Given the description of an element on the screen output the (x, y) to click on. 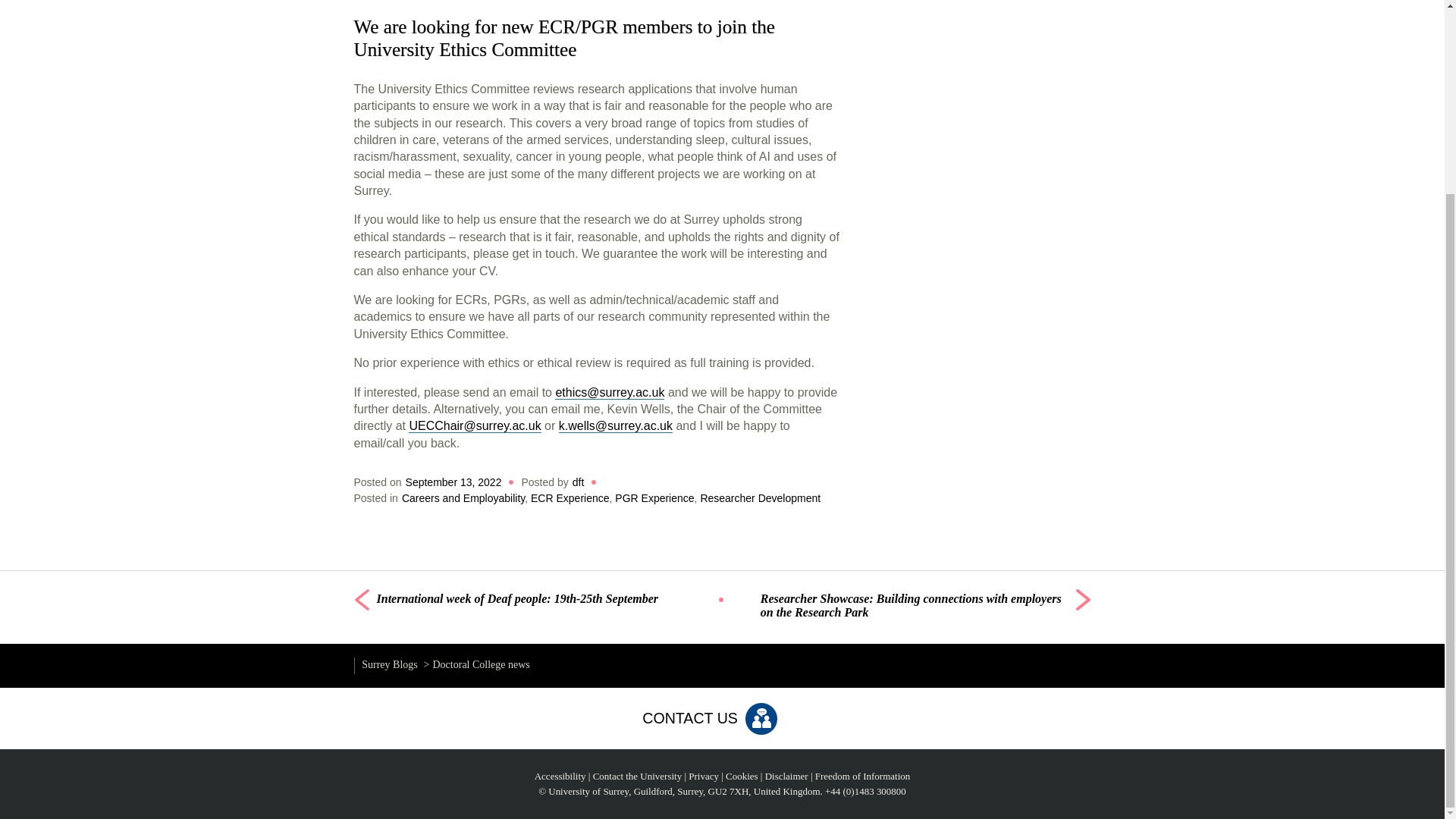
dft (578, 481)
Careers and Employability (462, 498)
September 13, 2022 (454, 481)
